Given the description of an element on the screen output the (x, y) to click on. 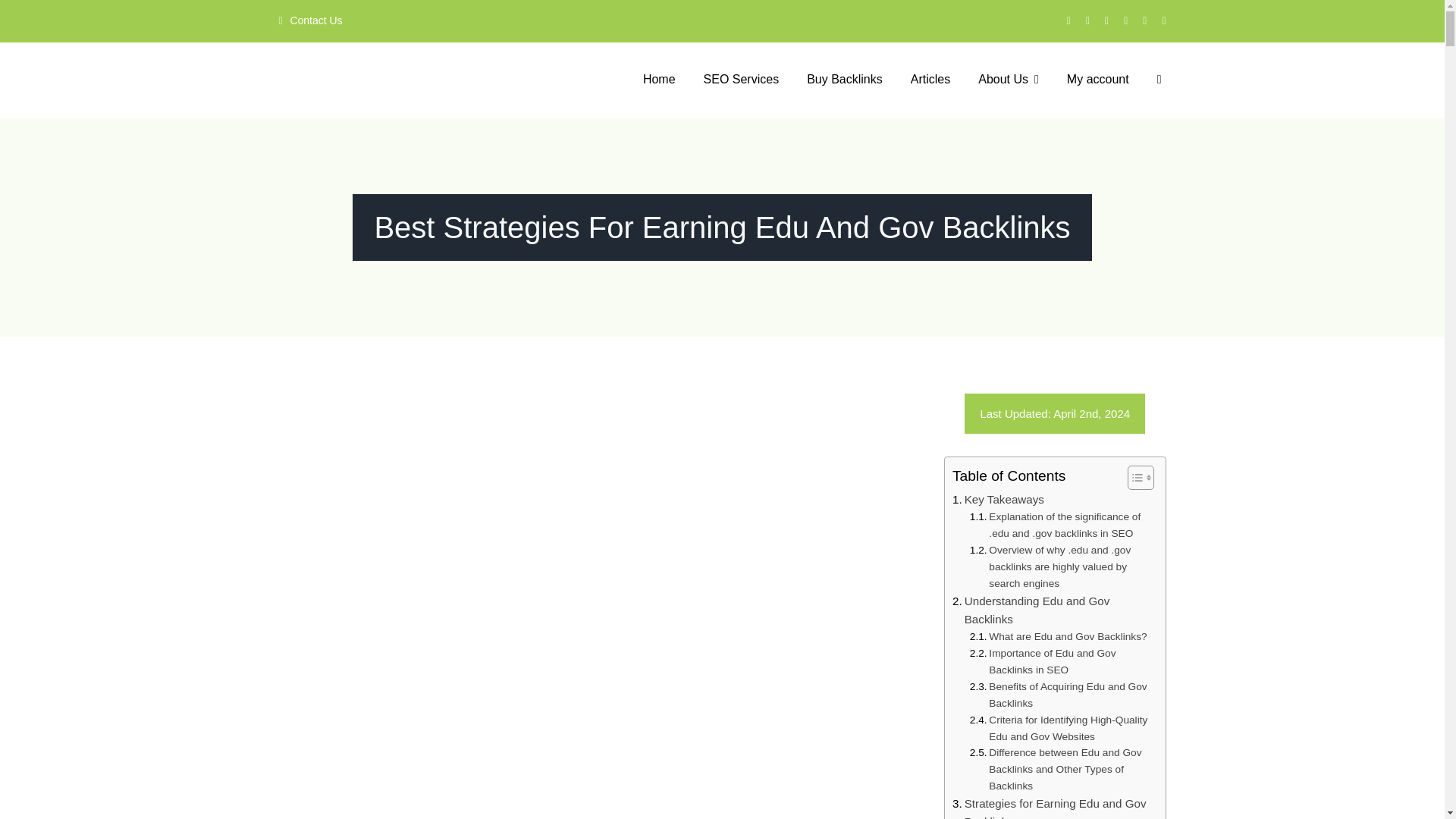
Contact Us (310, 21)
SEO Services (741, 79)
Buy Backlinks (844, 79)
About Us (1008, 79)
My account (1098, 79)
